Given the description of an element on the screen output the (x, y) to click on. 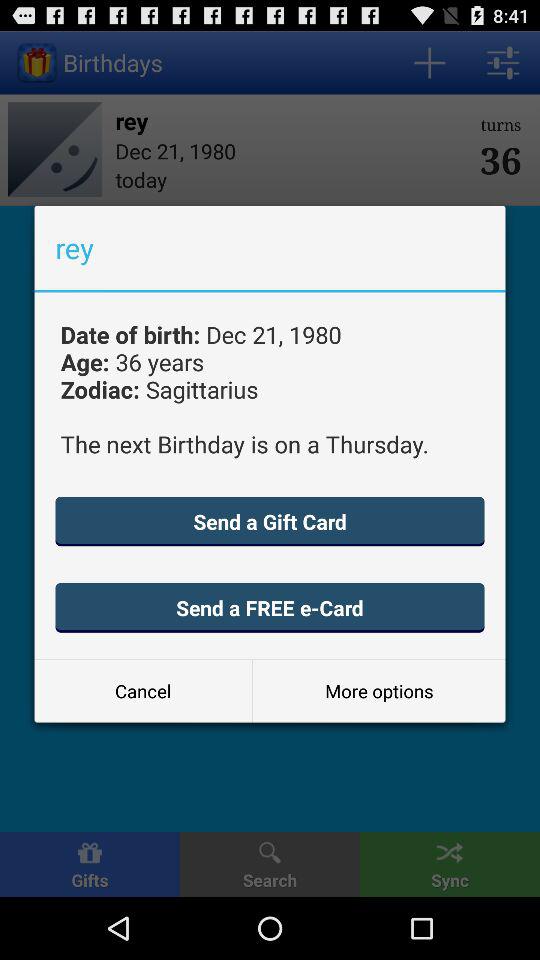
scroll to cancel icon (143, 690)
